Given the description of an element on the screen output the (x, y) to click on. 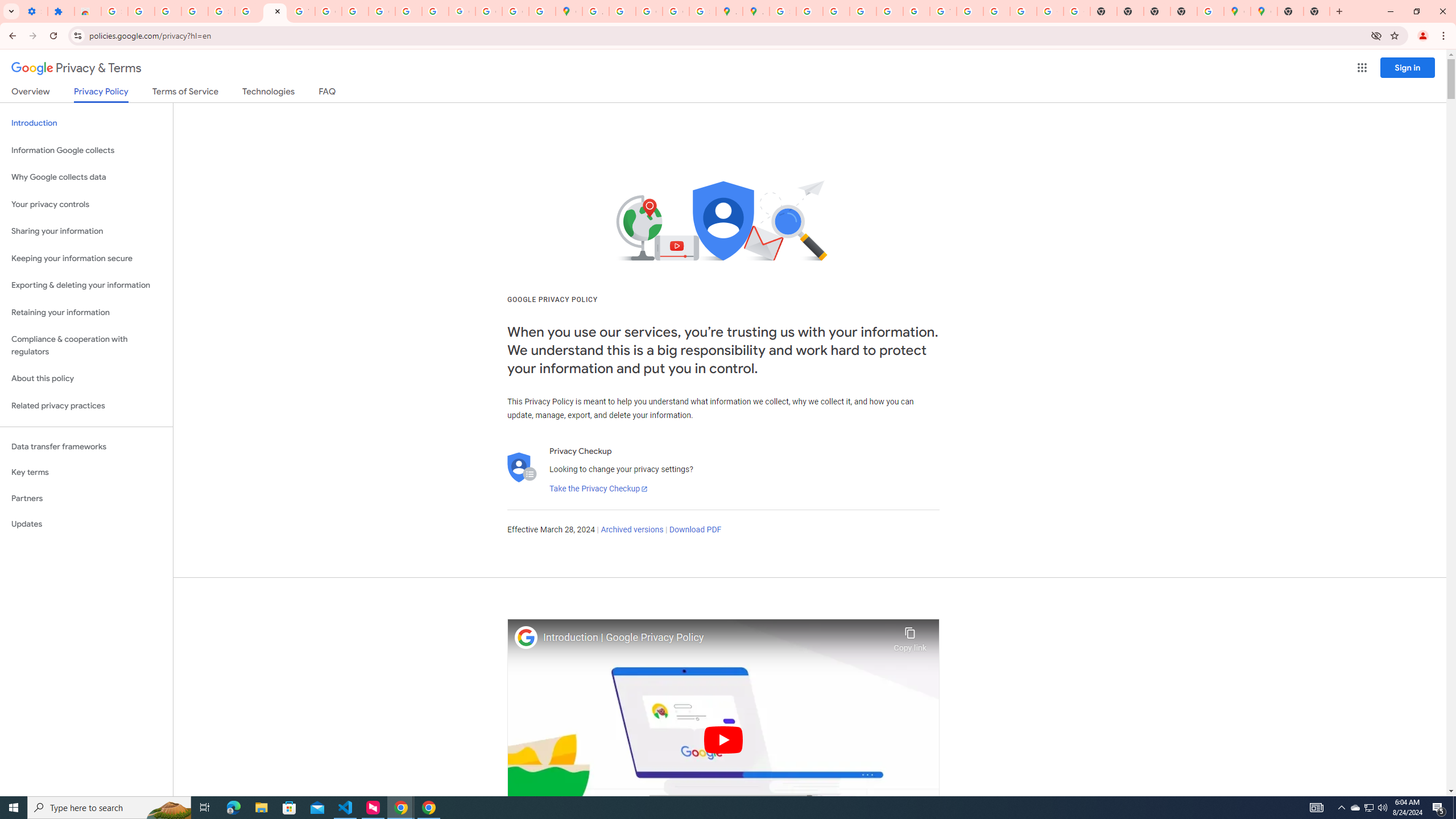
Use Google Maps in Space - Google Maps Help (1210, 11)
Why Google collects data (86, 176)
Google Maps (1263, 11)
Google Maps (1236, 11)
Create your Google Account (649, 11)
